Given the description of an element on the screen output the (x, y) to click on. 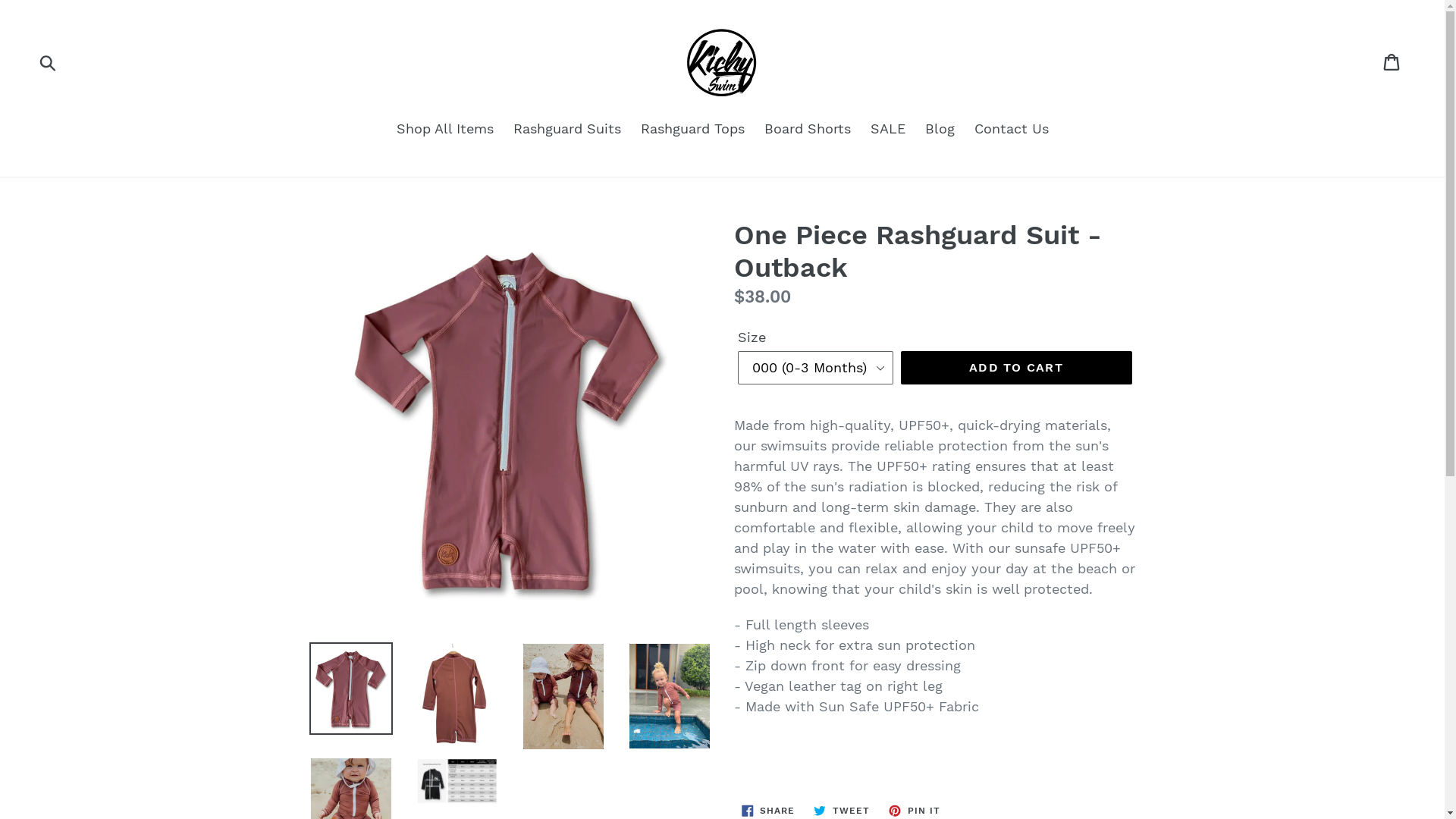
SALE Element type: text (887, 129)
Shop All Items Element type: text (444, 129)
ADD TO CART Element type: text (1016, 367)
Rashguard Tops Element type: text (691, 129)
Submit Element type: text (48, 60)
Blog Element type: text (939, 129)
Rashguard Suits Element type: text (566, 129)
Contact Us Element type: text (1010, 129)
Board Shorts Element type: text (807, 129)
Cart Element type: text (1392, 60)
